Given the description of an element on the screen output the (x, y) to click on. 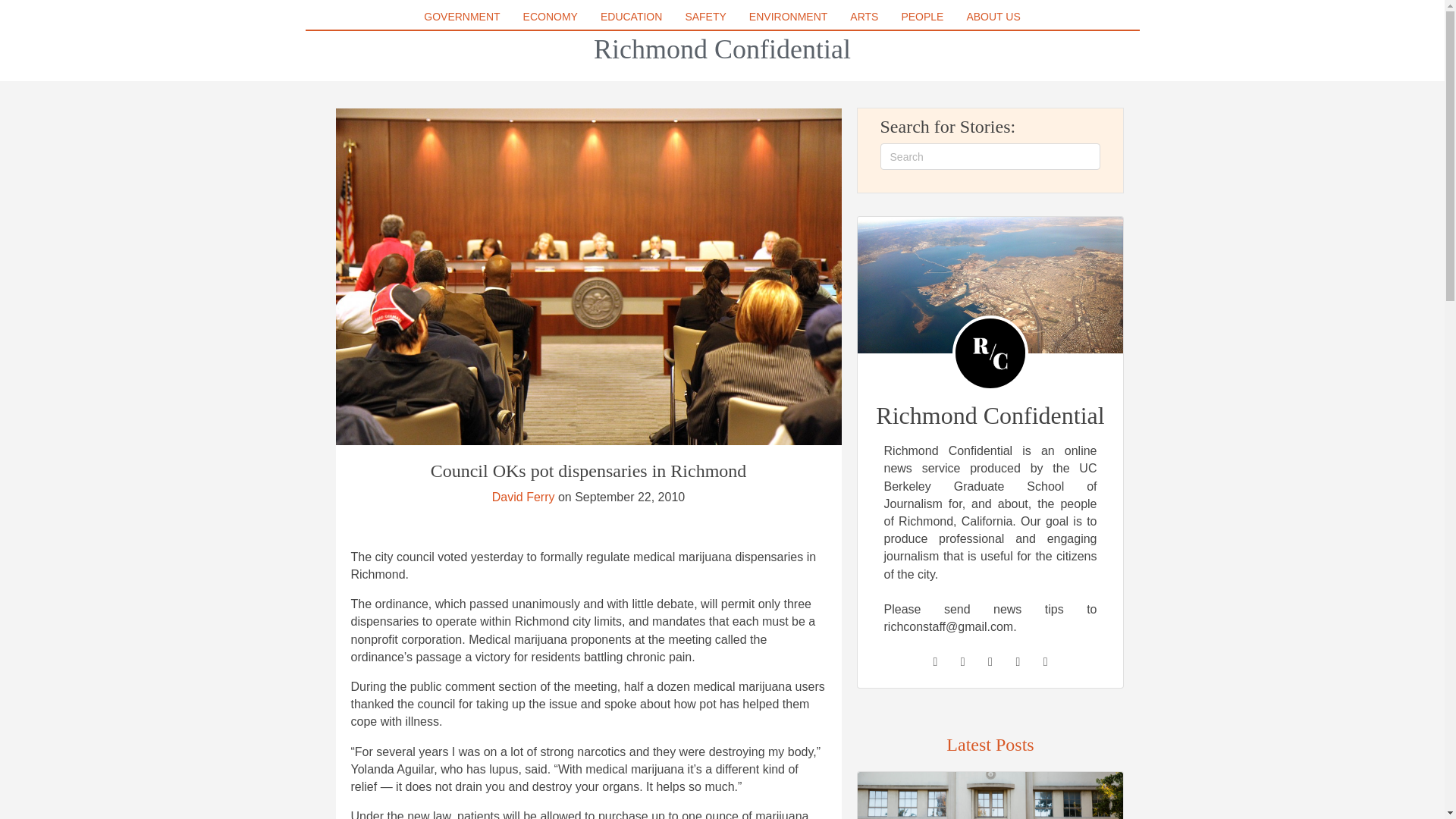
David Ferry (523, 496)
ABOUT US (992, 16)
PEOPLE (921, 16)
Richmond Confidential (722, 49)
ECONOMY (550, 16)
Richmond Confidential (722, 49)
Posts by David Ferry (523, 496)
GOVERNMENT (461, 16)
ENVIRONMENT (787, 16)
SAFETY (705, 16)
EDUCATION (630, 16)
ARTS (864, 16)
Type and press Enter to search. (990, 156)
